Given the description of an element on the screen output the (x, y) to click on. 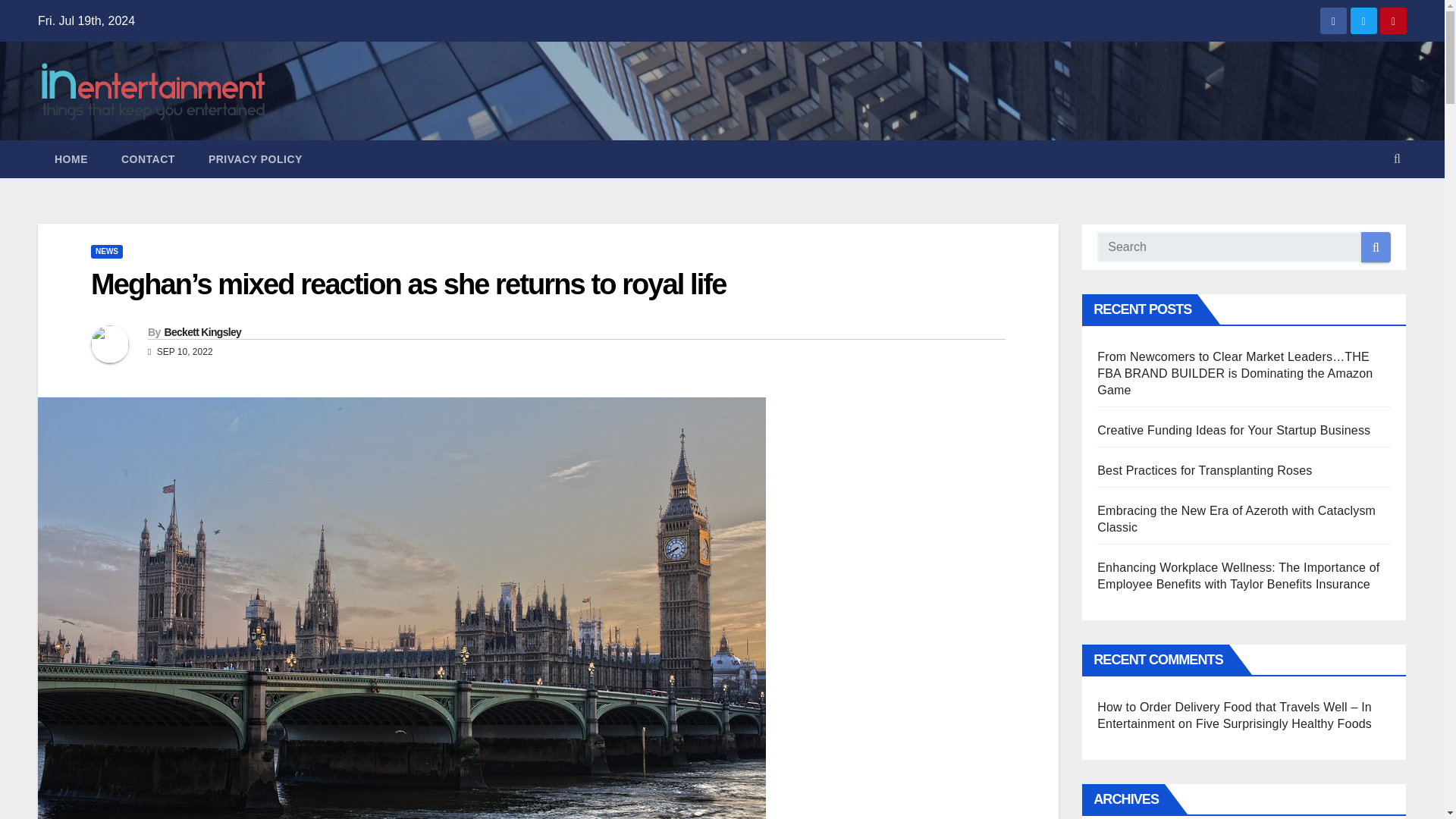
CONTACT (148, 159)
HOME (70, 159)
Beckett Kingsley (202, 331)
NEWS (106, 251)
Best Practices for Transplanting Roses (1204, 470)
PRIVACY POLICY (255, 159)
Embracing the New Era of Azeroth with Cataclysm Classic (1236, 518)
Creative Funding Ideas for Your Startup Business (1233, 430)
Home (70, 159)
